Given the description of an element on the screen output the (x, y) to click on. 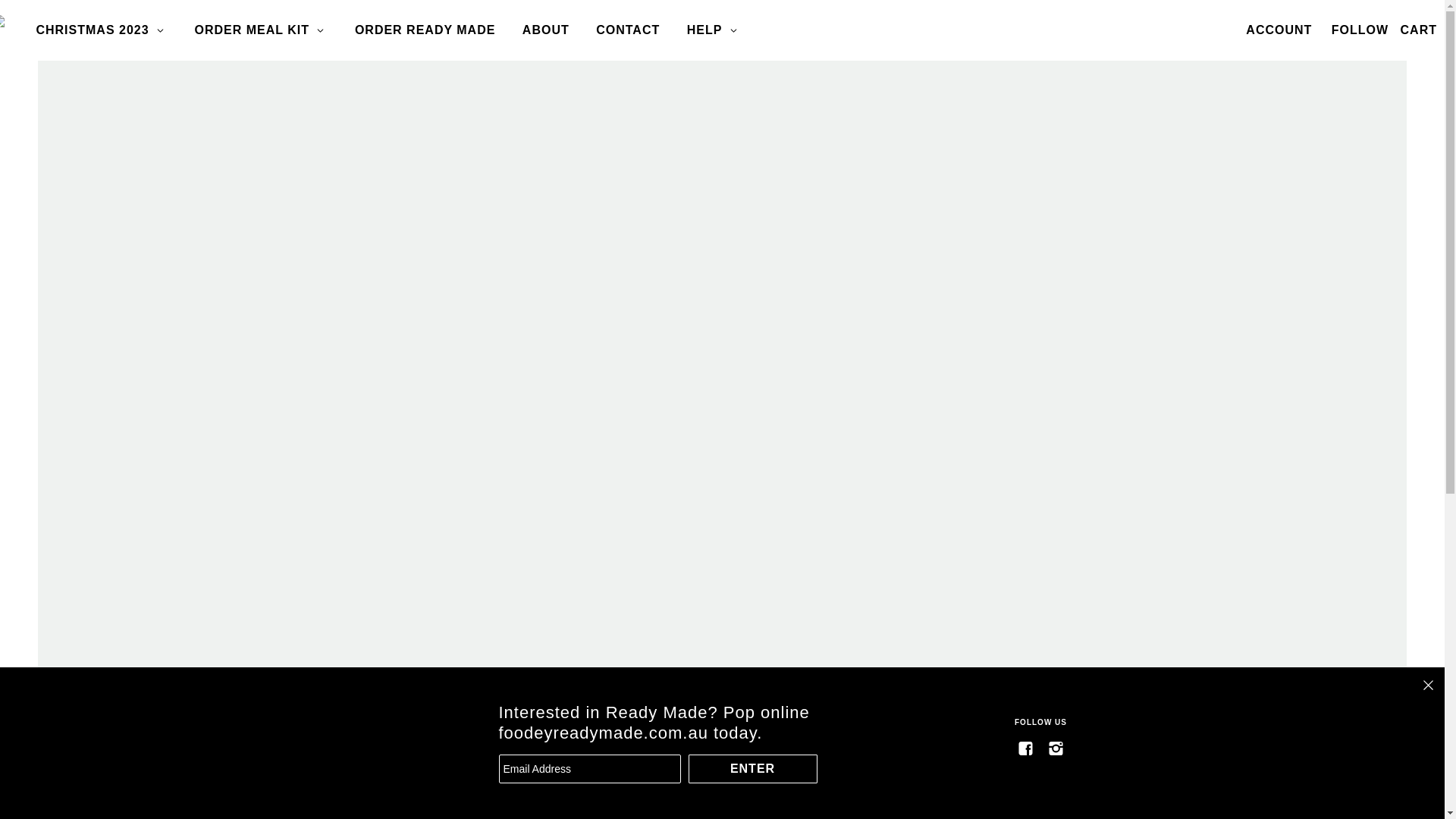
CONTACT Element type: text (627, 30)
Instagram Element type: hover (1055, 747)
FOLLOW Element type: text (1360, 30)
Premium Lamb Steaks- 600g Element type: text (213, 746)
HELP Element type: text (713, 30)
CHRISTMAS 2023 Element type: text (101, 30)
Facebook Element type: hover (1025, 747)
ABOUT Element type: text (545, 30)
ACCOUNT Element type: text (1278, 30)
ADD TO CART Element type: text (1333, 737)
Protein Extras Element type: text (129, 46)
CART Element type: text (1418, 29)
Home Element type: text (55, 46)
ORDER MEAL KIT Element type: text (261, 30)
Enter Element type: text (752, 768)
ORDER READY MADE Element type: text (425, 30)
